Given the description of an element on the screen output the (x, y) to click on. 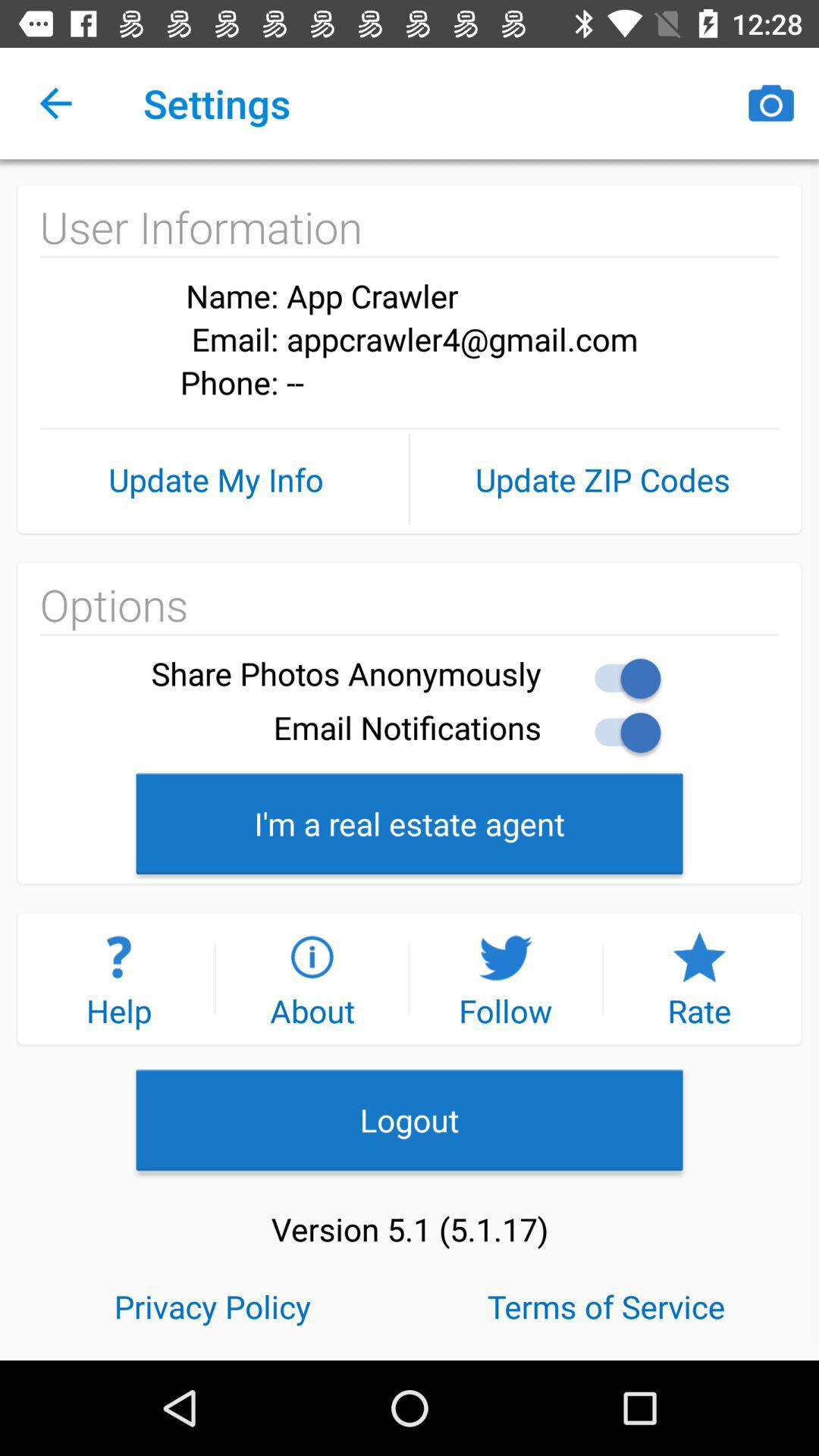
turn on the icon next to settings item (55, 103)
